Given the description of an element on the screen output the (x, y) to click on. 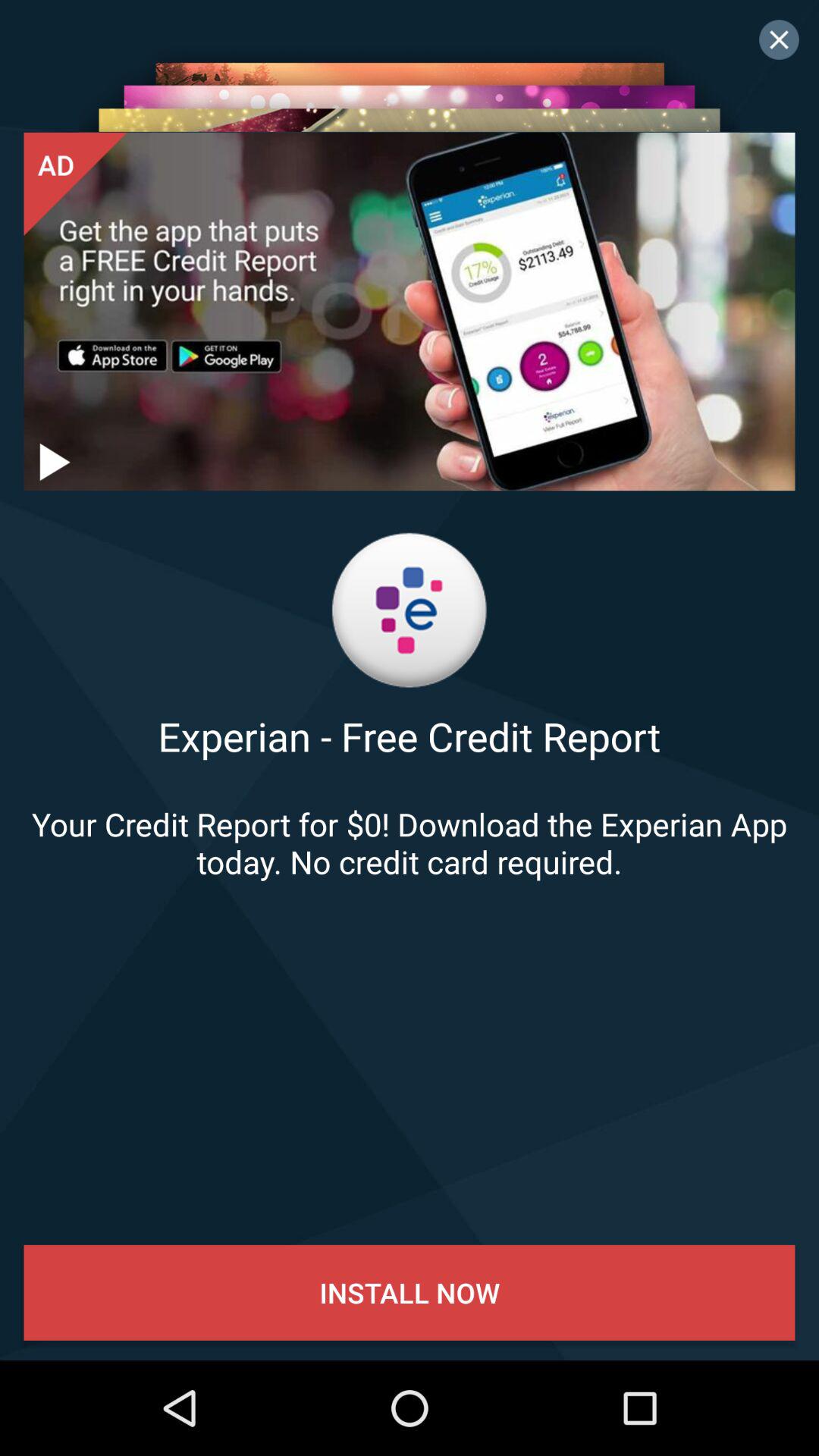
choose the icon at the top right corner (779, 39)
